Given the description of an element on the screen output the (x, y) to click on. 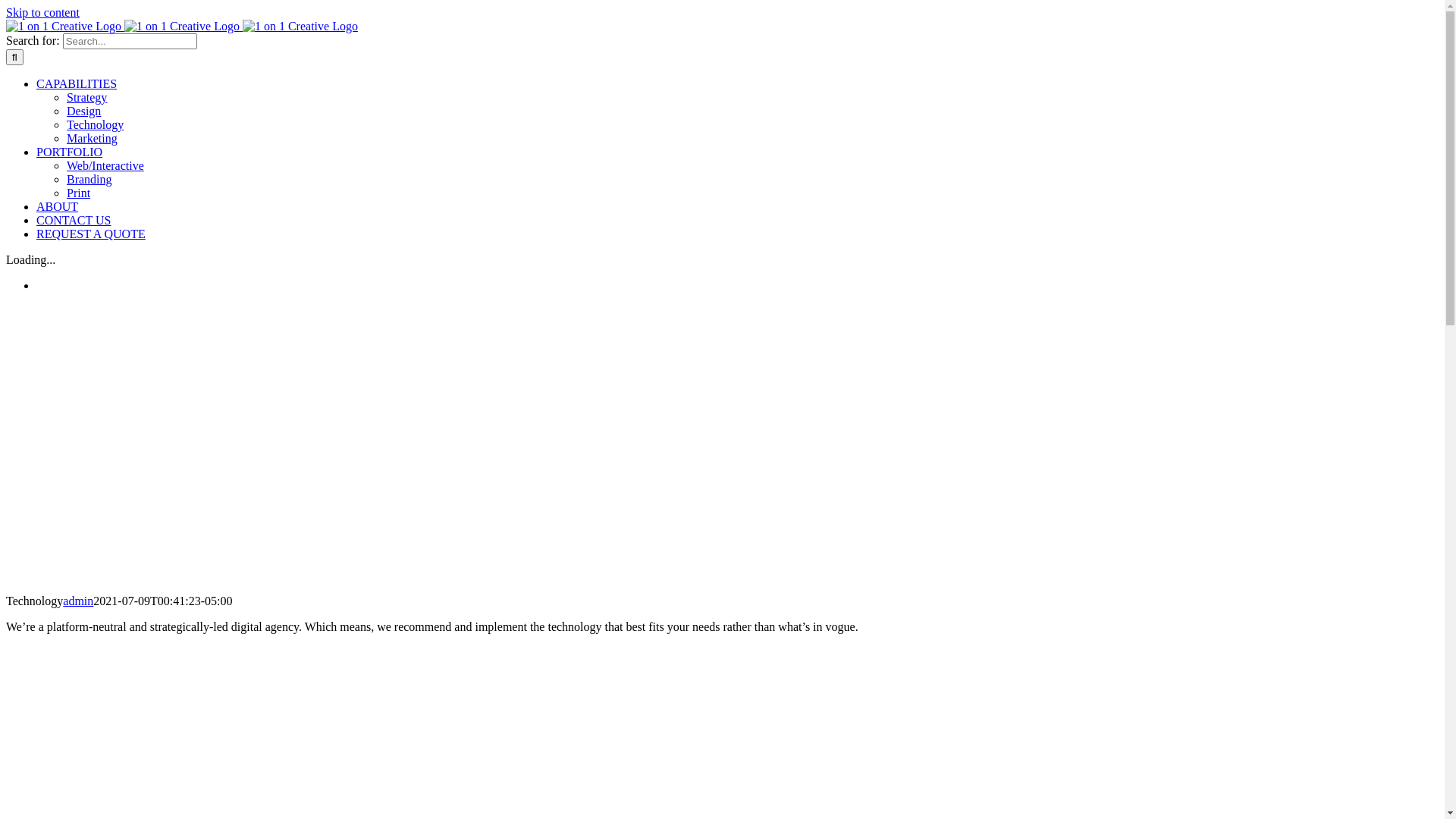
CAPABILITIES Element type: text (76, 83)
REQUEST A QUOTE Element type: text (90, 233)
admin Element type: text (77, 600)
PORTFOLIO Element type: text (69, 151)
Strategy Element type: text (86, 97)
Design Element type: text (83, 110)
Skip to content Element type: text (42, 12)
CONTACT US Element type: text (73, 219)
Web/Interactive Element type: text (105, 165)
Technology Element type: text (94, 124)
Branding Element type: text (89, 178)
Marketing Element type: text (91, 137)
ABOUT Element type: text (57, 206)
Print Element type: text (78, 192)
